Given the description of an element on the screen output the (x, y) to click on. 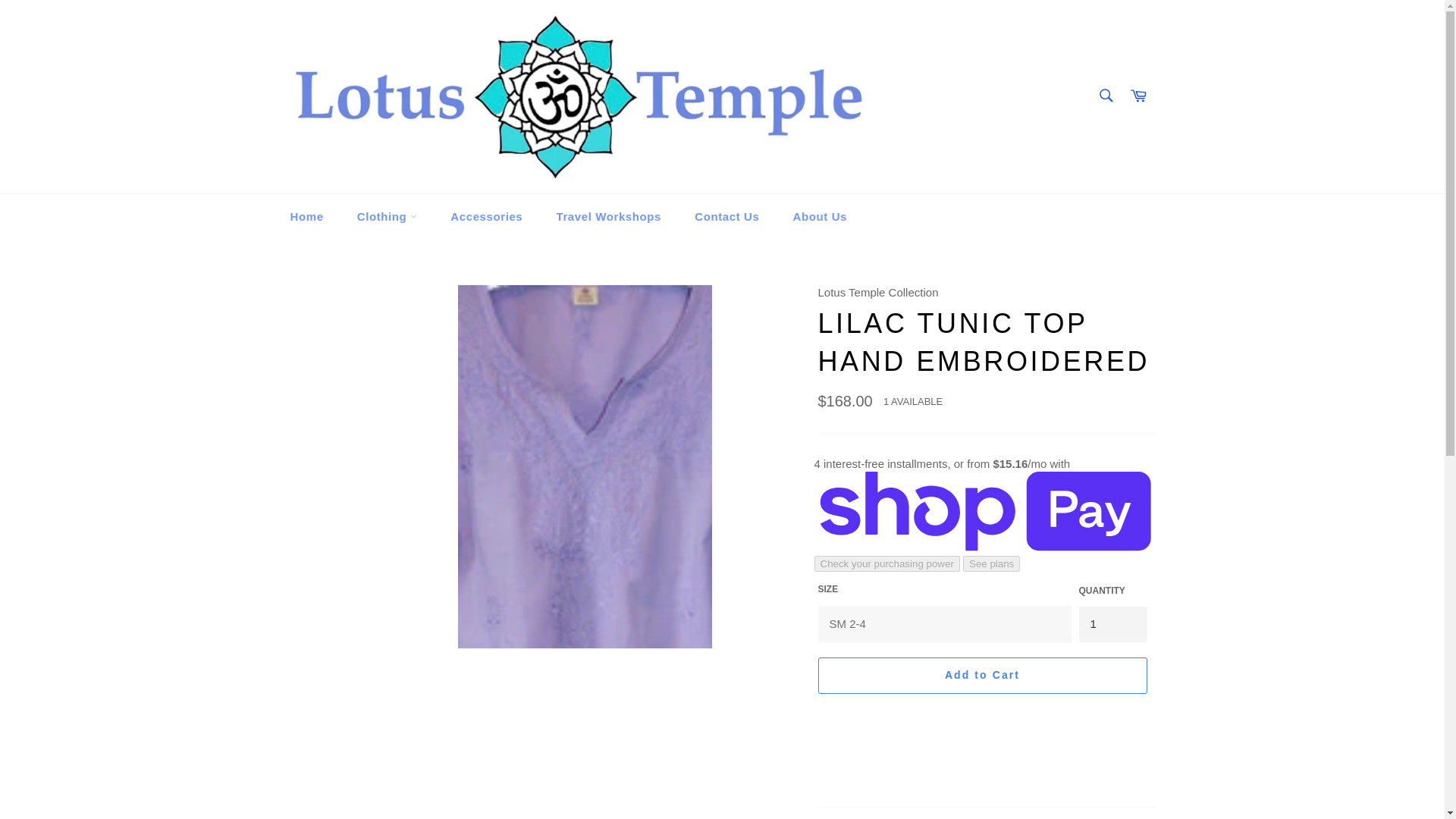
Home (306, 217)
Cart (1138, 96)
1 (1112, 624)
Clothing (387, 217)
Travel Workshops (608, 217)
Contact Us (726, 217)
Accessories (486, 217)
About Us (819, 217)
Search (1104, 95)
